Given the description of an element on the screen output the (x, y) to click on. 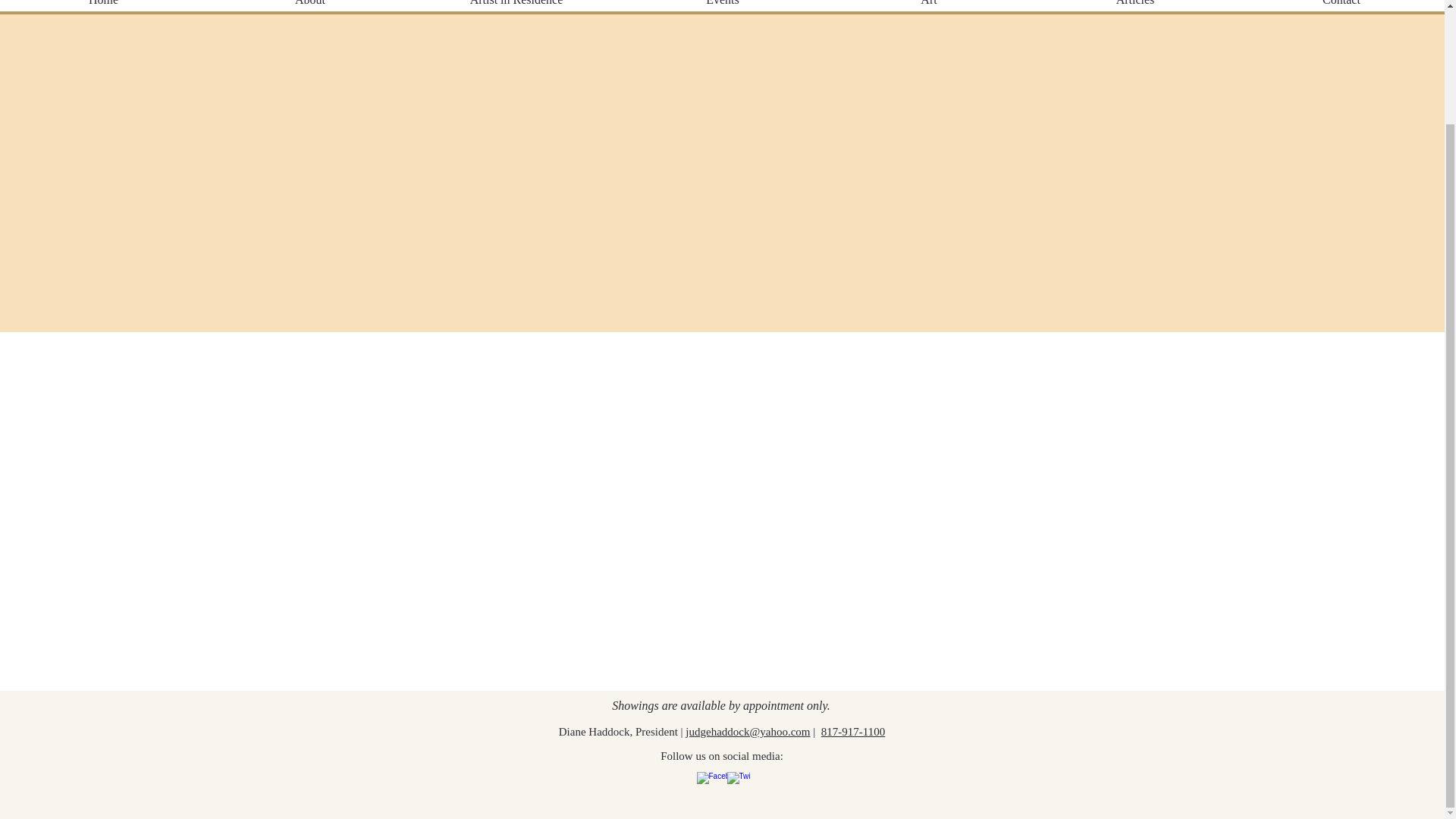
Artist in Residence (516, 7)
About (309, 7)
Art (928, 7)
Home (103, 7)
Articles (1135, 7)
Events (722, 7)
817-917-1100 (853, 731)
